Given the description of an element on the screen output the (x, y) to click on. 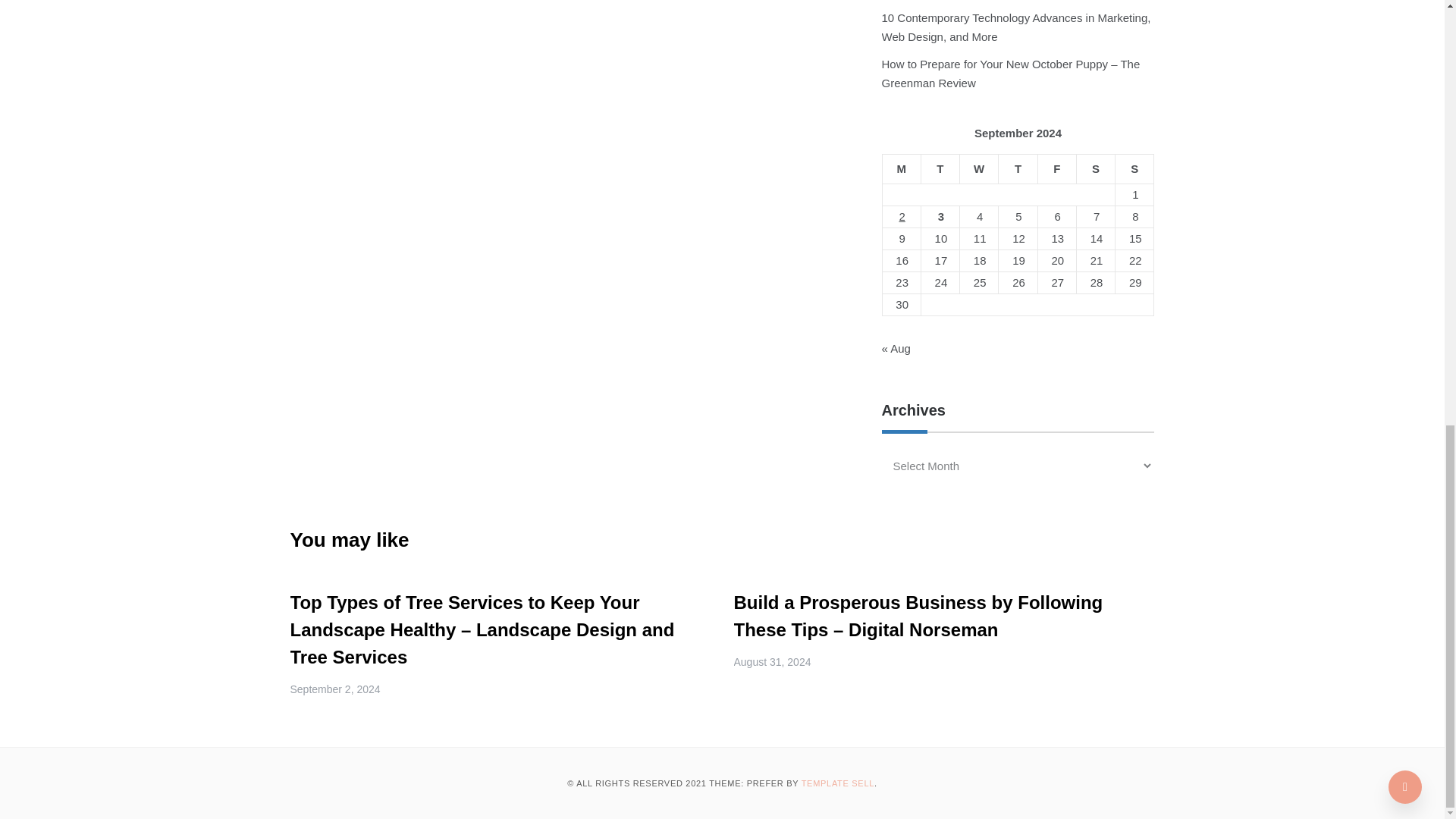
Sunday (1134, 169)
Saturday (1095, 169)
Thursday (1017, 169)
Monday (901, 169)
Tuesday (939, 169)
Wednesday (978, 169)
Friday (1055, 169)
TEMPLATE SELL (838, 782)
